Given the description of an element on the screen output the (x, y) to click on. 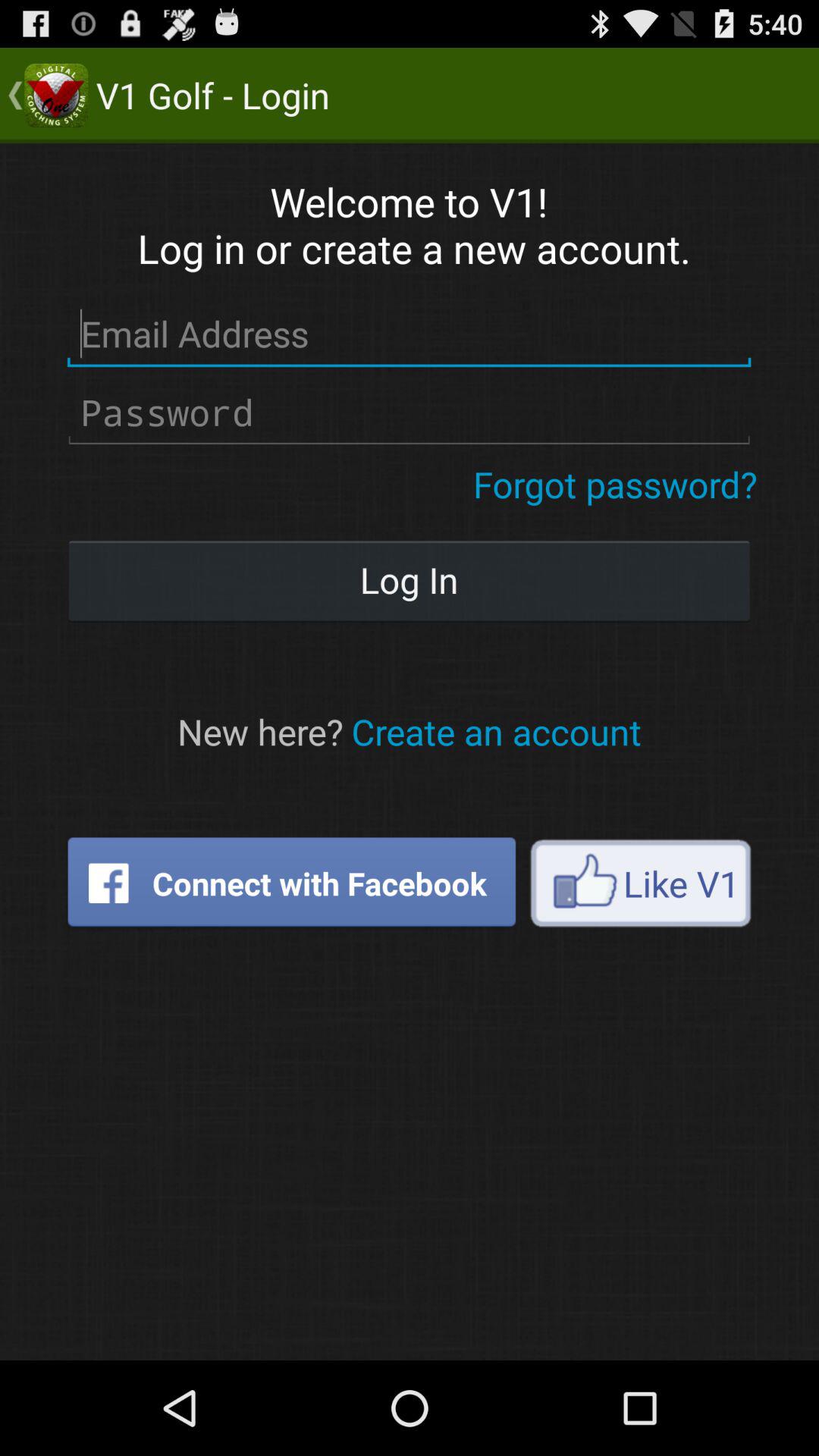
click app below the create an account (639, 883)
